Given the description of an element on the screen output the (x, y) to click on. 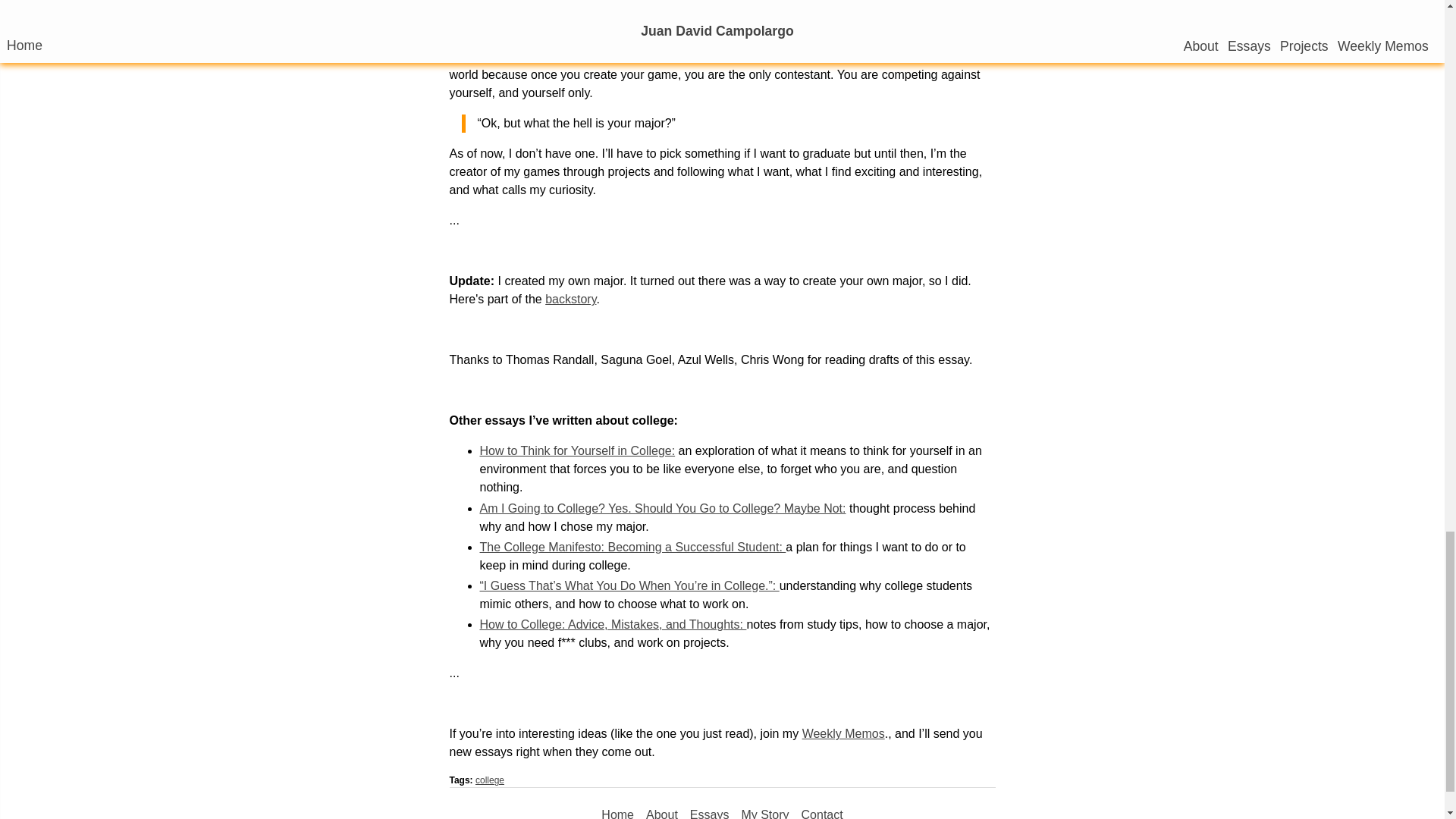
Essays (709, 812)
How to Think for Yourself in College: (577, 450)
Weekly Memos (843, 733)
About (662, 812)
college (489, 779)
My Story (764, 812)
Contact (821, 812)
How to College: Advice, Mistakes, and Thoughts: (612, 624)
backstory (569, 298)
